Given the description of an element on the screen output the (x, y) to click on. 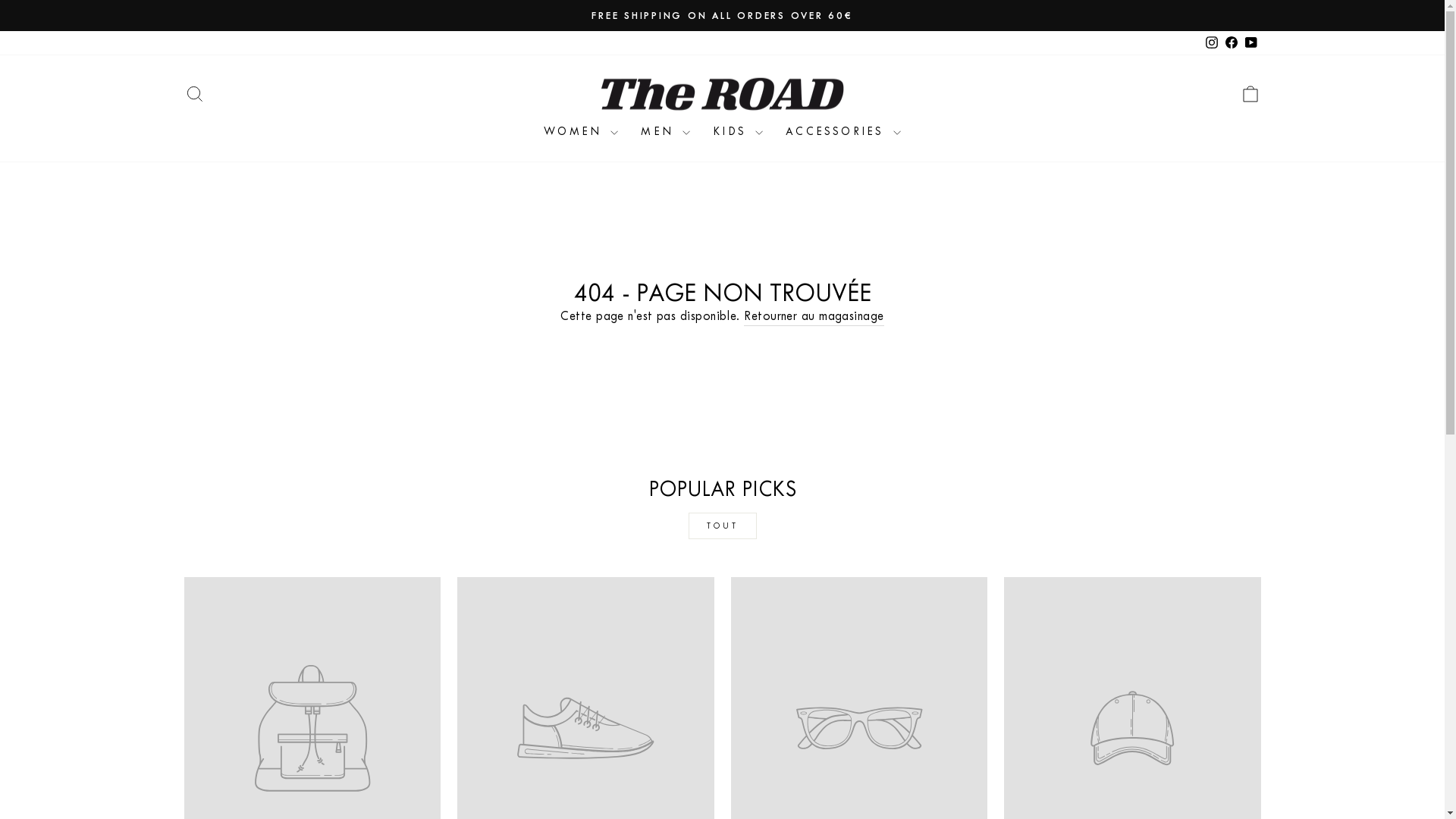
instagram
Instagram Element type: text (1210, 42)
Retourner au magasinage Element type: text (813, 316)
ICON-SEARCH
RECHERCHER Element type: text (193, 94)
TOUT Element type: text (722, 525)
ICON-BAG-MINIMAL
PANIER Element type: text (1249, 94)
Facebook Element type: text (1230, 42)
YouTube Element type: text (1250, 42)
